Given the description of an element on the screen output the (x, y) to click on. 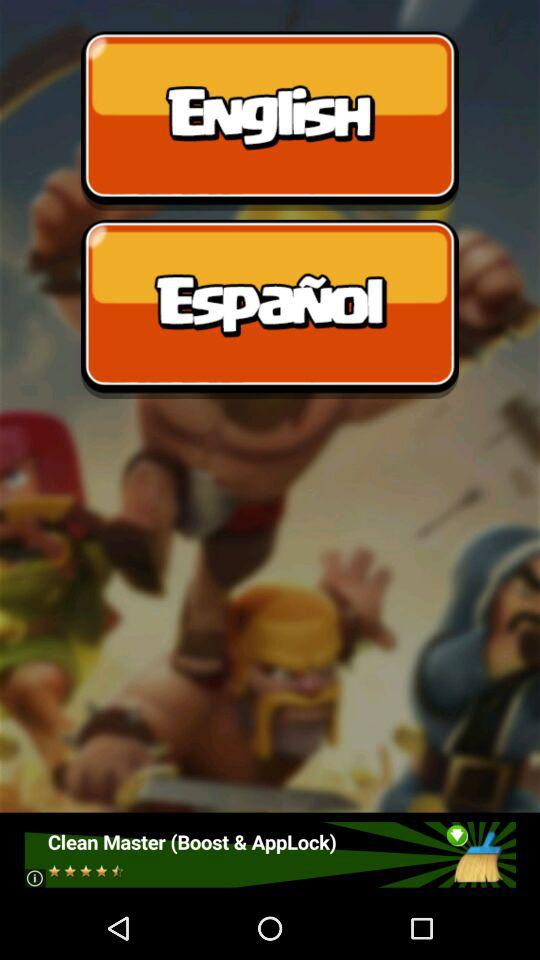
set language to spanish (270, 309)
